Given the description of an element on the screen output the (x, y) to click on. 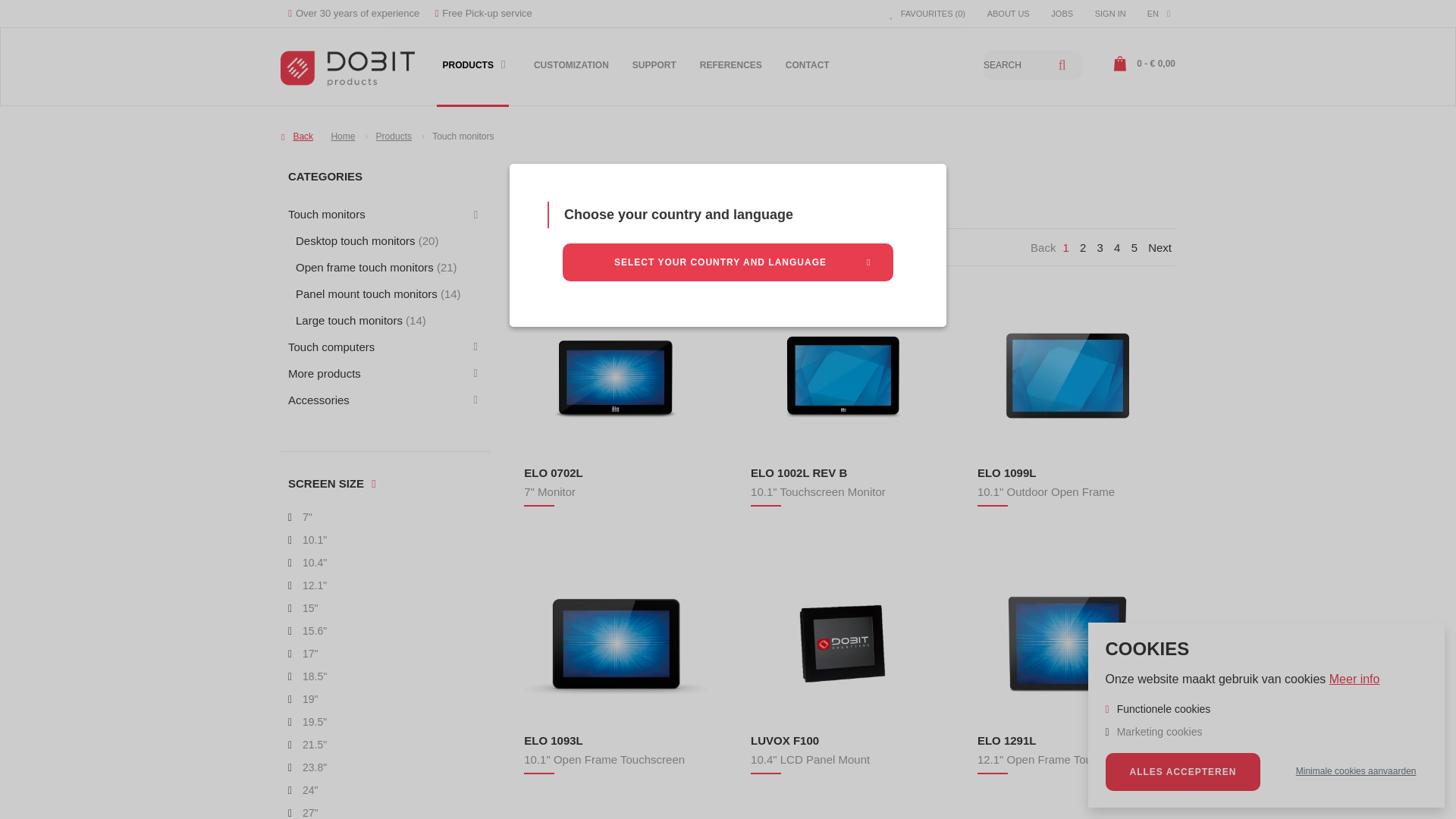
REFERENCES (731, 73)
Home (342, 136)
EN (1158, 13)
CUSTOMIZATION (570, 73)
PRODUCTS (472, 73)
Products (393, 136)
Back (297, 136)
